Given the description of an element on the screen output the (x, y) to click on. 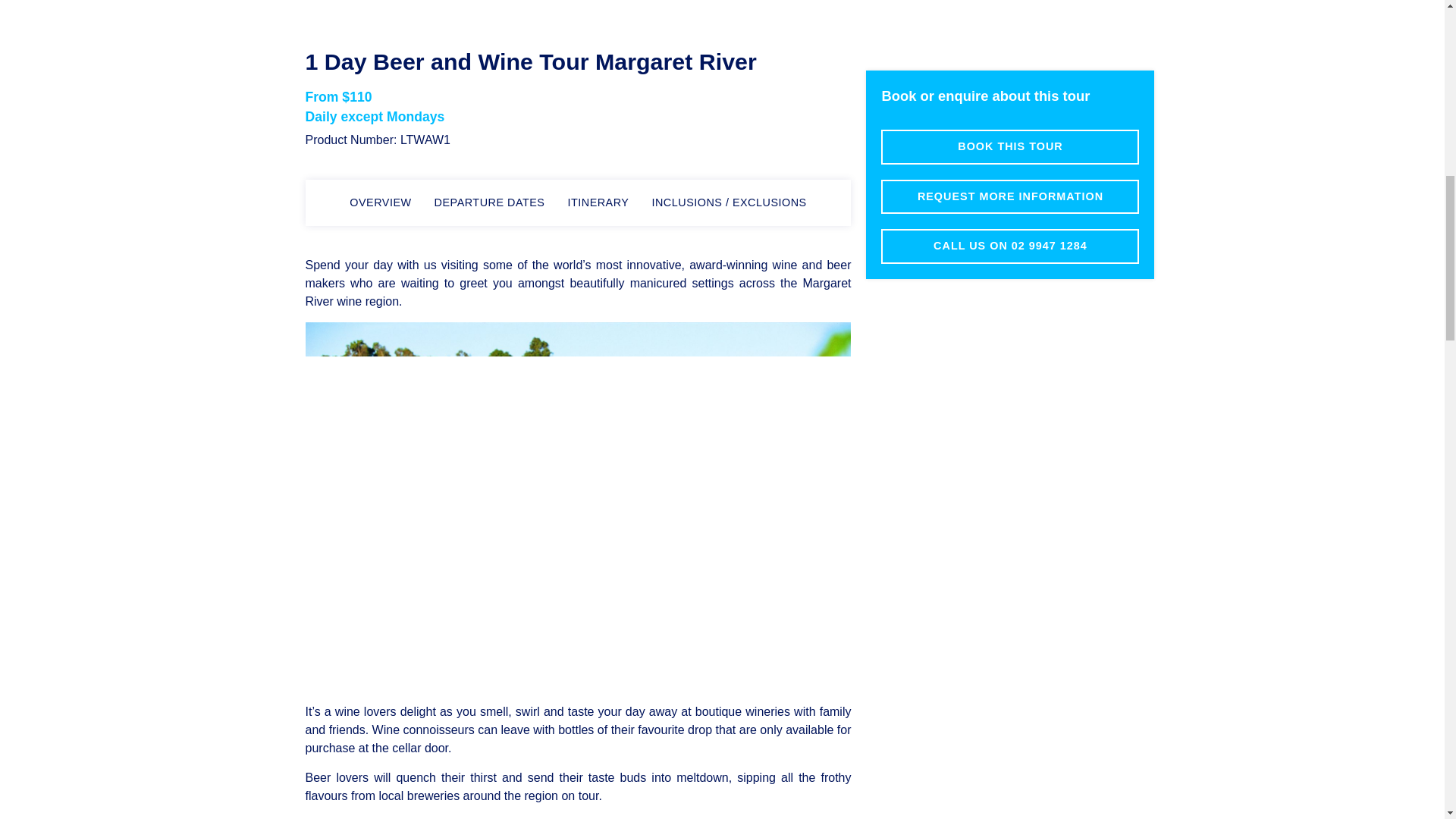
BOOK THIS TOUR (1009, 105)
CALL US ON 02 9947 1284 (1009, 205)
OVERVIEW (379, 202)
REQUEST MORE INFORMATION (1009, 155)
DEPARTURE DATES (488, 202)
ITINERARY (597, 202)
